Given the description of an element on the screen output the (x, y) to click on. 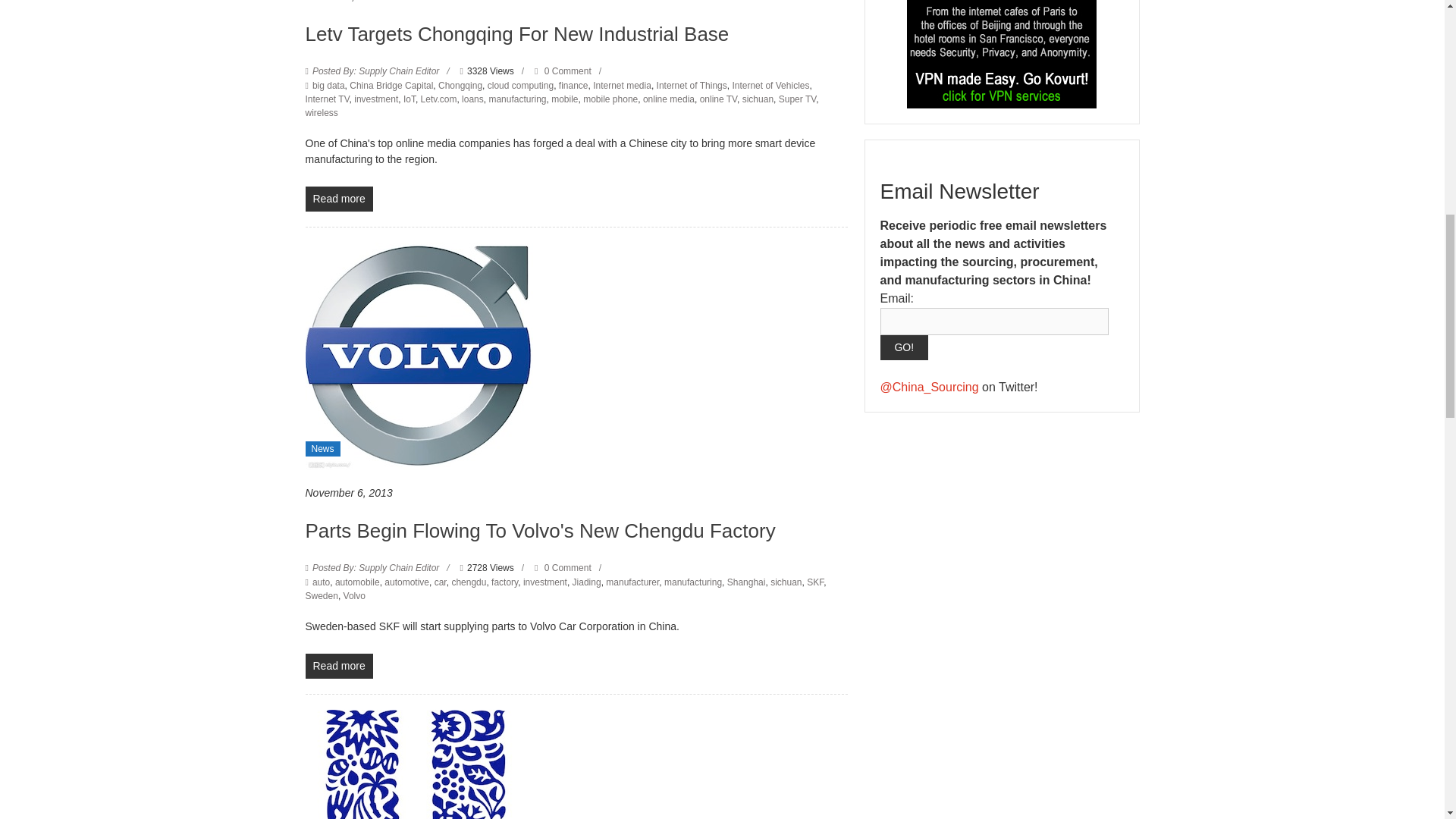
 GO!  (903, 347)
mobile (564, 99)
Letv Targets Chongqing For New Industrial Base (516, 33)
Chongqing (459, 85)
investment (375, 99)
Posted By: Supply Chain Editor (376, 71)
loans (472, 99)
Internet of Things (691, 85)
manufacturing (516, 99)
0 Comment (562, 71)
Letv.com (438, 99)
cloud computing (520, 85)
mobile phone (610, 99)
October 6, 2015 (342, 2)
China Bridge Capital (390, 85)
